Given the description of an element on the screen output the (x, y) to click on. 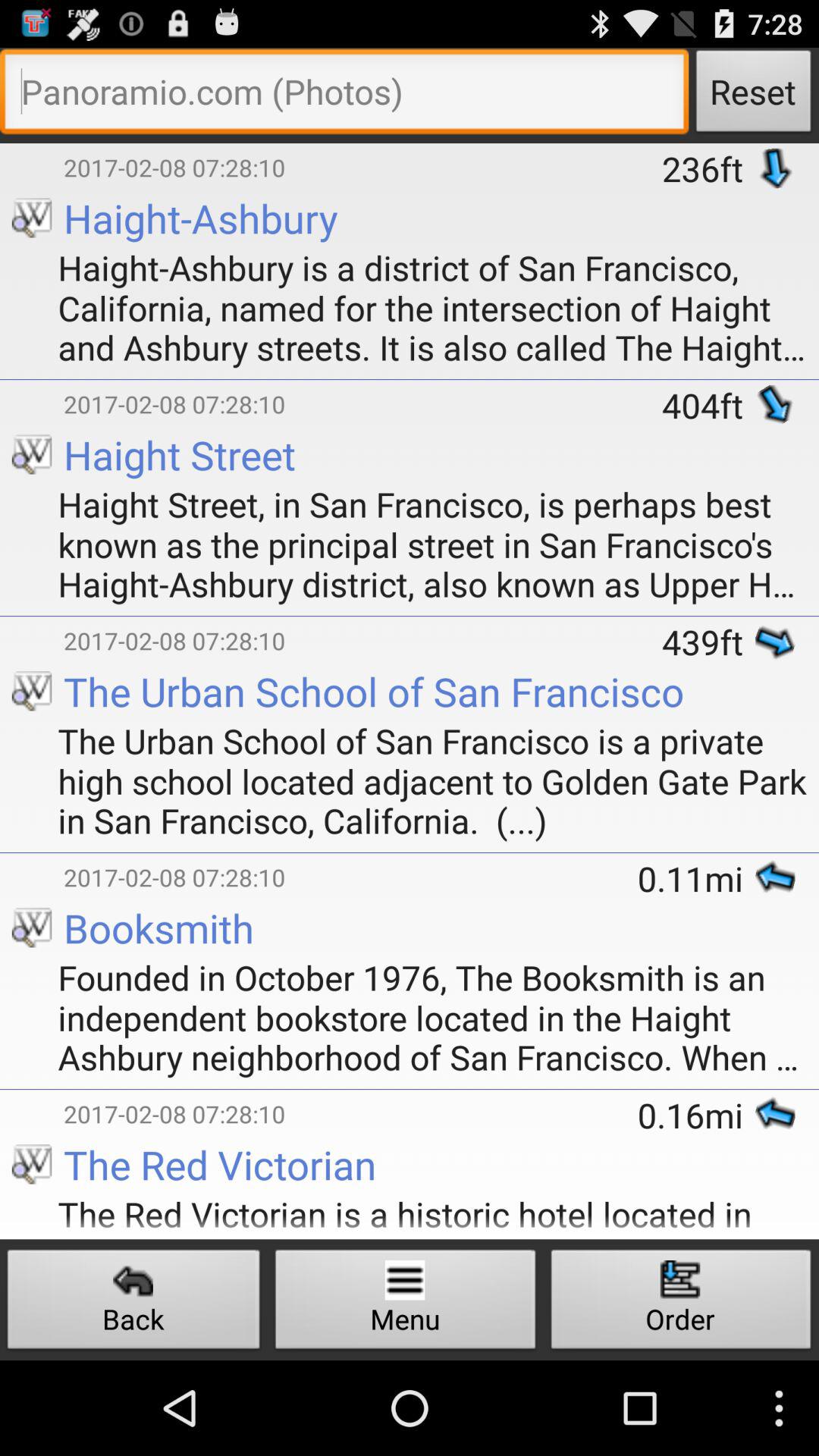
select the item to the right of 2017 02 08 item (708, 641)
